Given the description of an element on the screen output the (x, y) to click on. 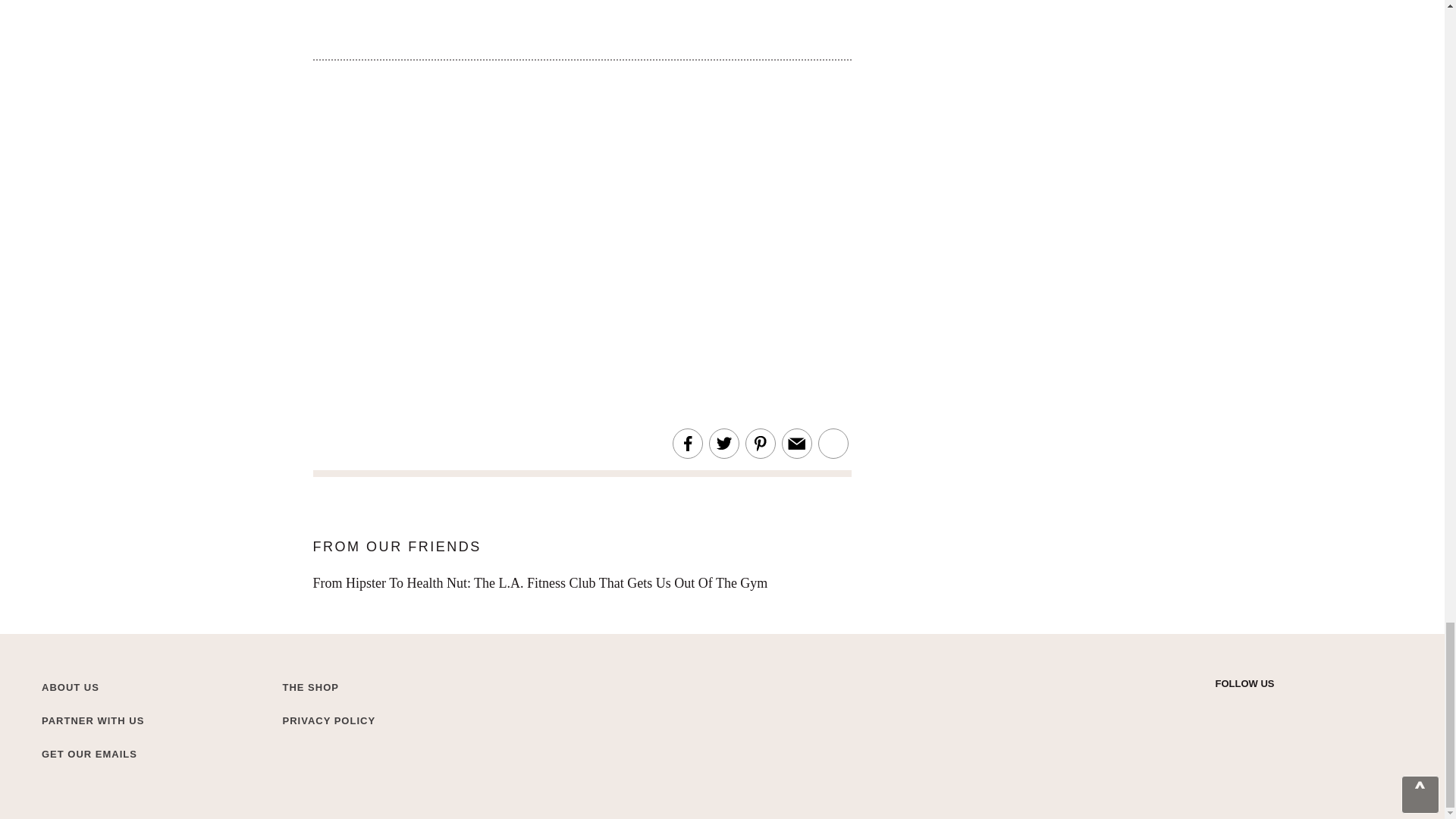
Instagram (1249, 708)
Twitter (1222, 708)
Facebook (1275, 708)
Share this article on Twitter (724, 443)
Share an image of this article on Pinterest (760, 443)
Pinterest (1302, 708)
Email this article (797, 443)
Share this article on Facebook (687, 443)
